Given the description of an element on the screen output the (x, y) to click on. 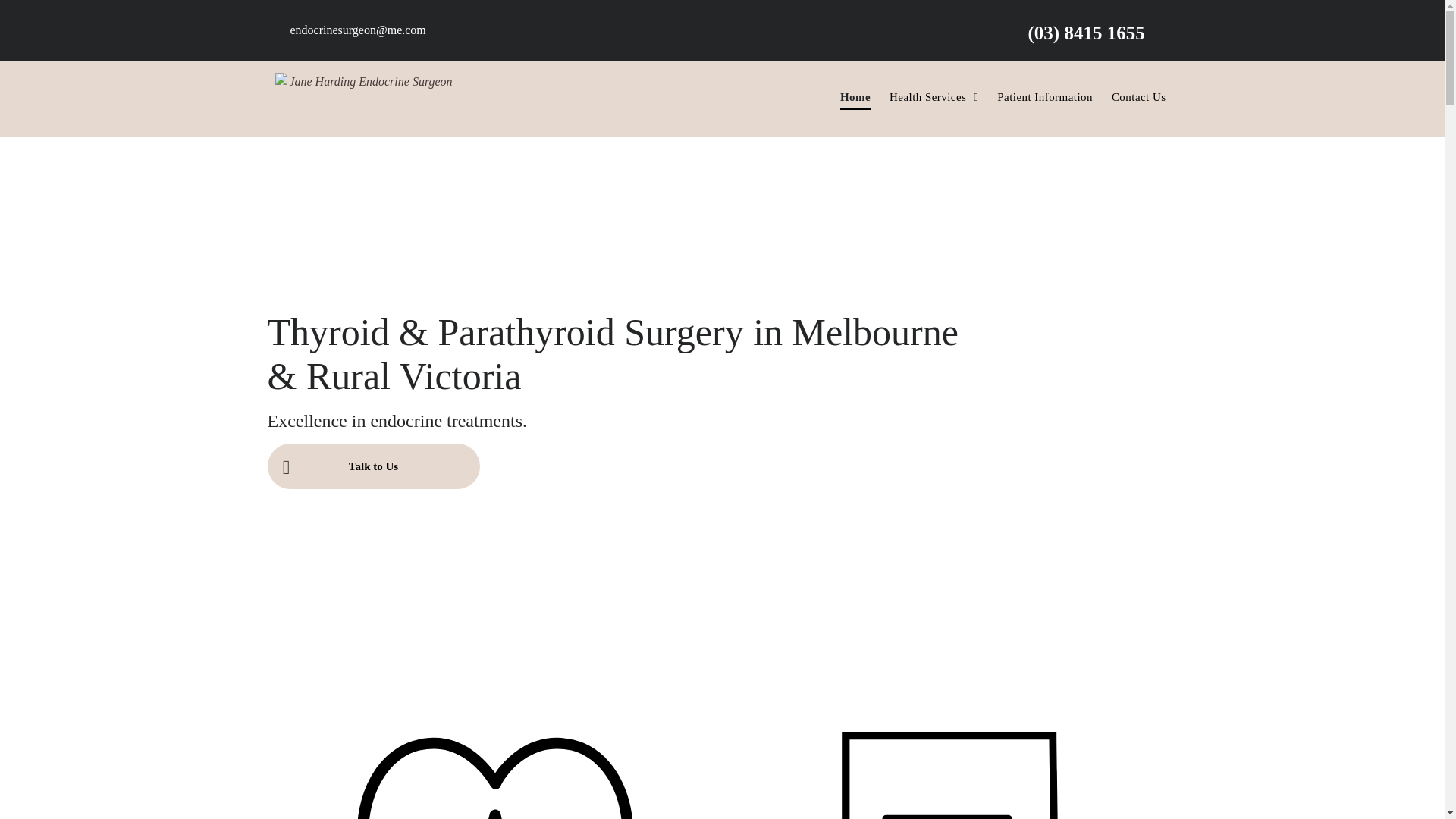
Contact Us Element type: text (1129, 96)
endocrinesurgeon@me.com Element type: text (357, 29)
Talk to Us Element type: text (372, 466)
Health Services Element type: text (924, 96)
Home Element type: text (845, 96)
(03) 8415 1655 Element type: text (1086, 32)
Patient Information Element type: text (1035, 96)
Jane Harding Endocrine Surgeon Element type: hover (364, 98)
